Given the description of an element on the screen output the (x, y) to click on. 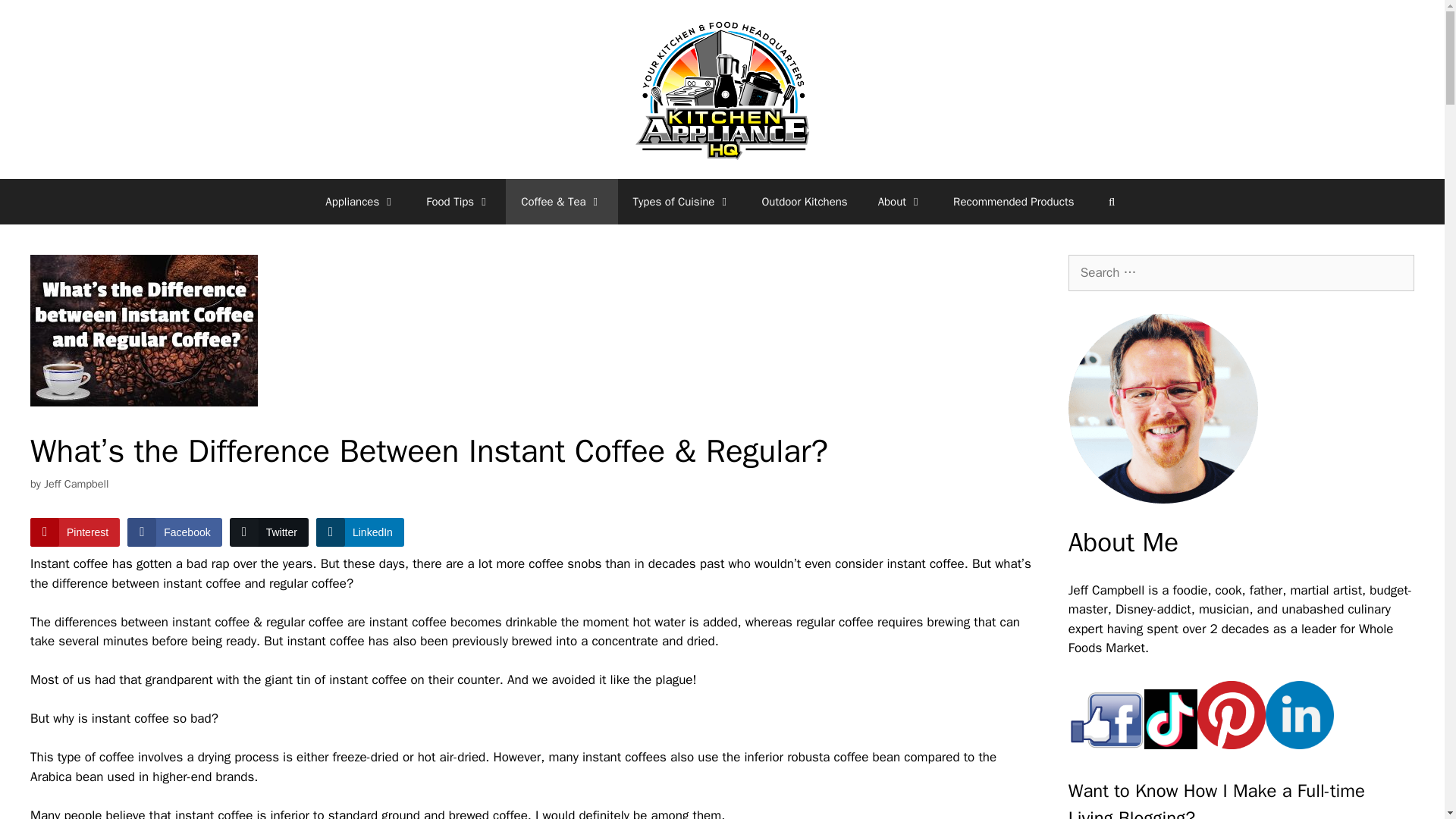
Appliances (360, 201)
View all posts by Jeff Campbell (75, 483)
Outdoor Kitchens (803, 201)
Food Tips (457, 201)
Types of Cuisine (681, 201)
Search for: (1240, 272)
